Given the description of an element on the screen output the (x, y) to click on. 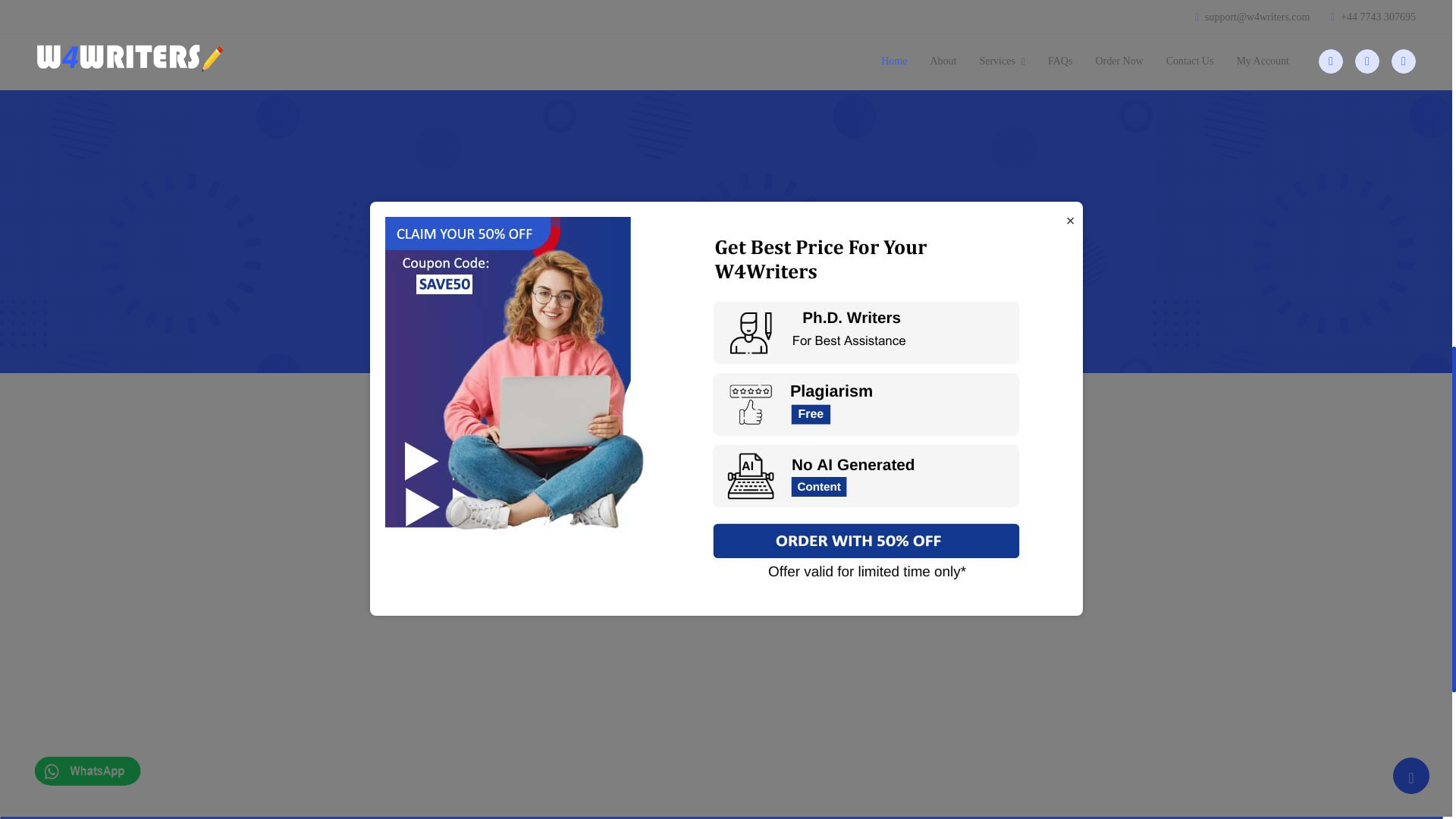
Read More (1070, 488)
Read More (1070, 143)
Read More (1070, 23)
Read More (1070, 607)
Read More (1070, 248)
Read More (1070, 339)
